Given the description of an element on the screen output the (x, y) to click on. 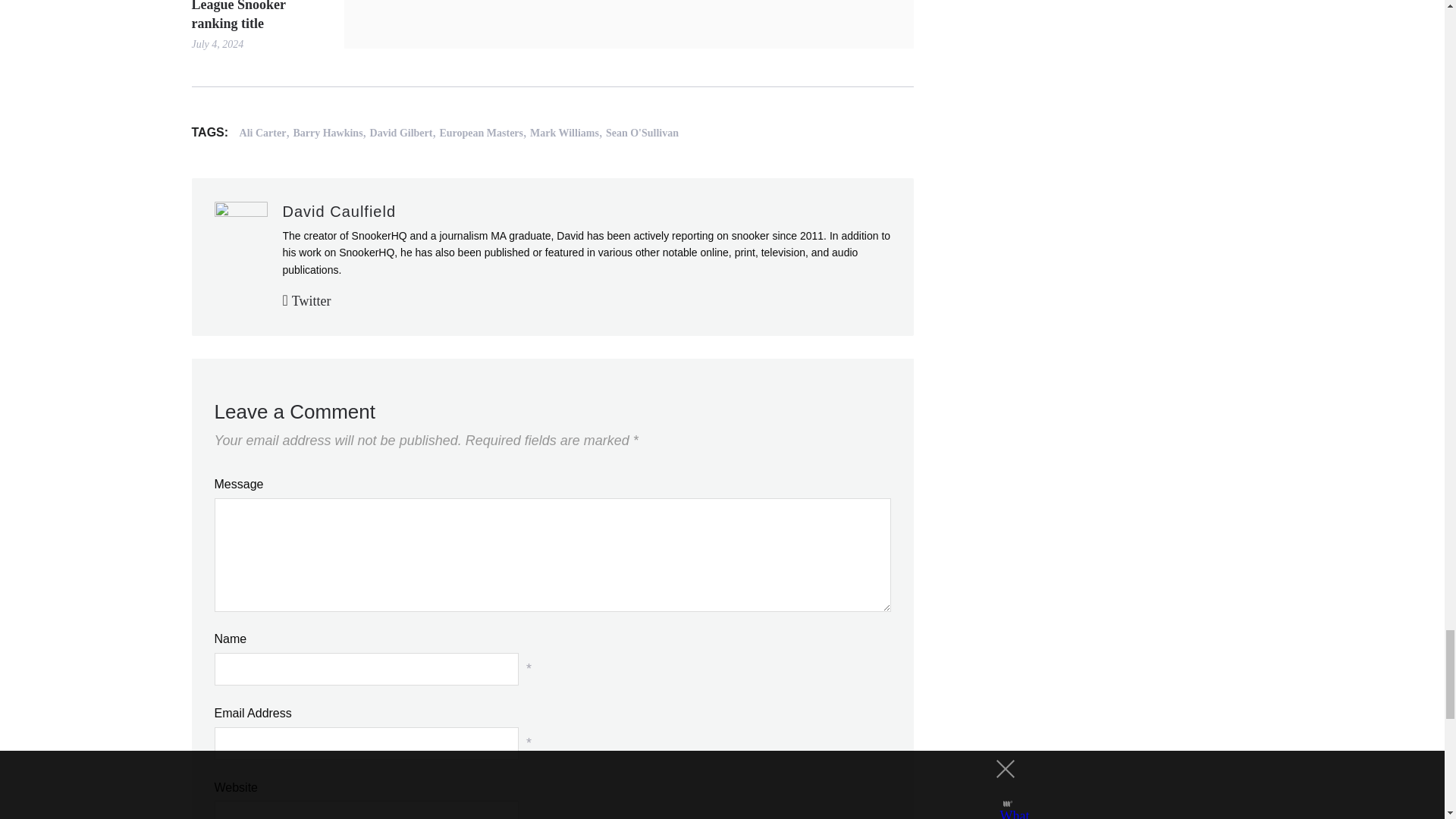
Follow David Caulfield on Twitter (306, 300)
Posts by David Caulfield (339, 211)
